Given the description of an element on the screen output the (x, y) to click on. 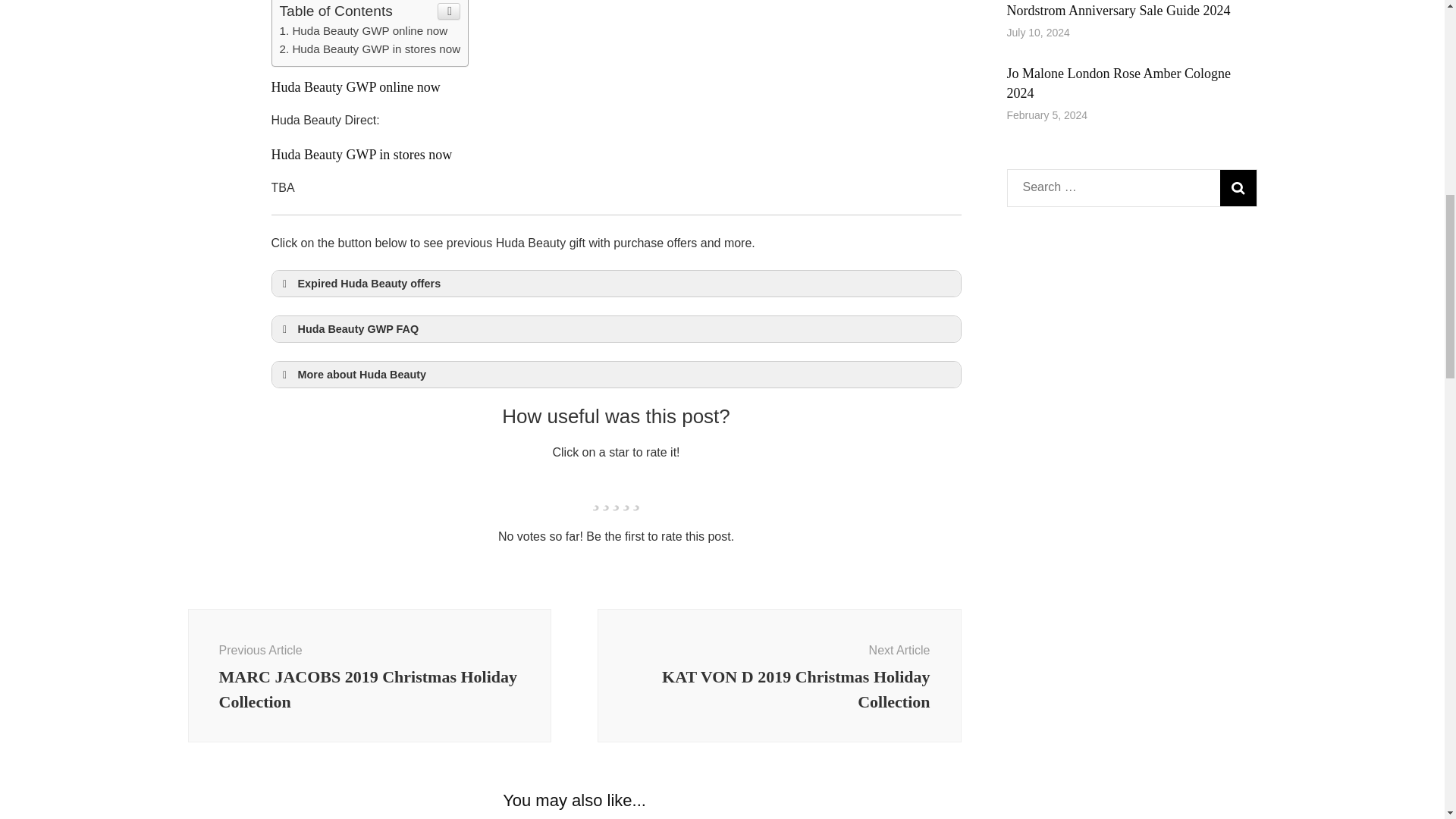
Search (1237, 187)
Search (1237, 187)
Huda Beauty GWP online now (362, 30)
Huda Beauty GWP in stores now (369, 48)
